Given the description of an element on the screen output the (x, y) to click on. 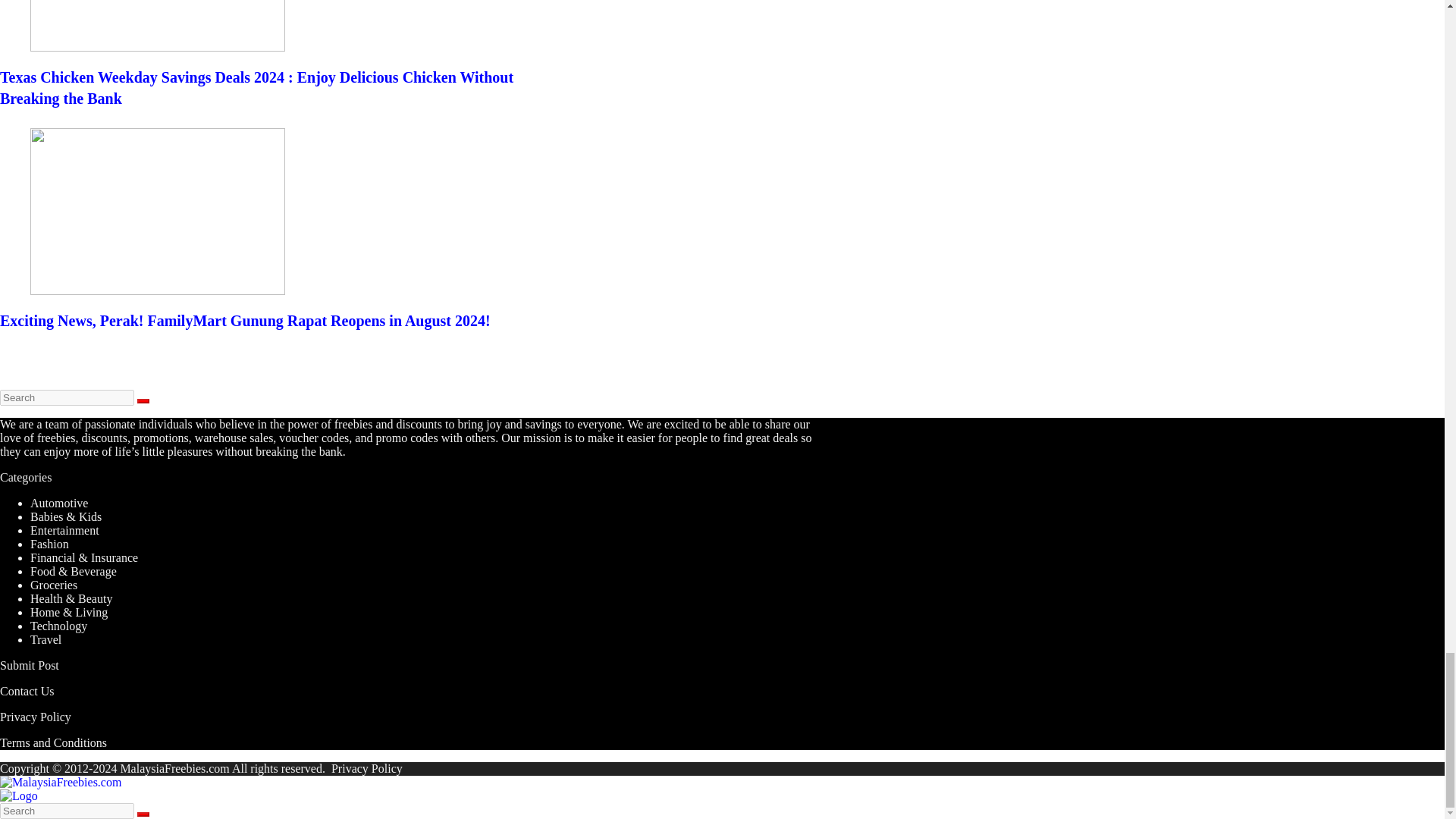
Automotive (58, 502)
